Given the description of an element on the screen output the (x, y) to click on. 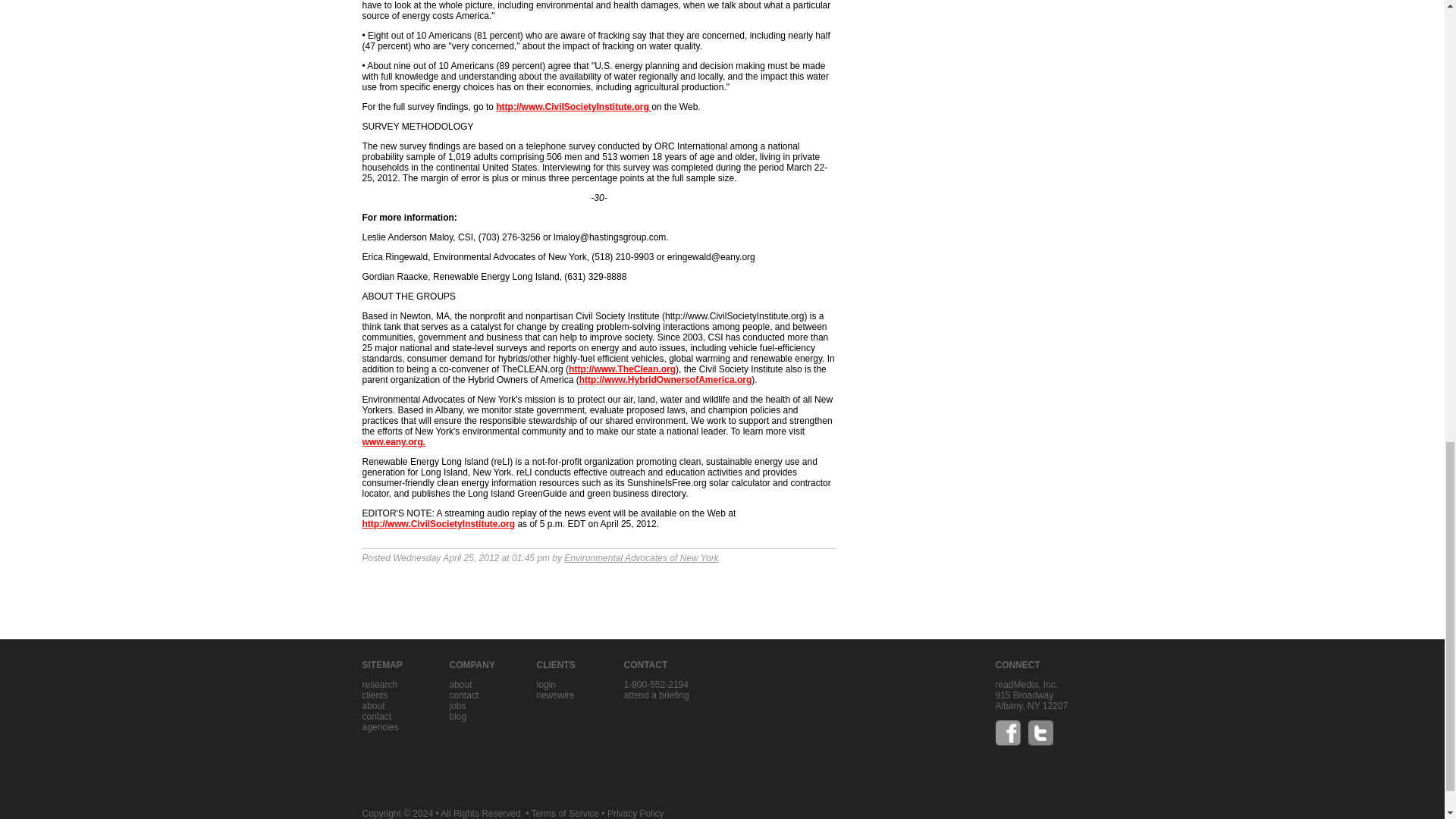
about (373, 706)
contact (376, 716)
clients (375, 695)
agencies (380, 726)
about (459, 684)
research (379, 684)
www.eany.org. (393, 441)
Environmental Advocates of New York (640, 557)
